Given the description of an element on the screen output the (x, y) to click on. 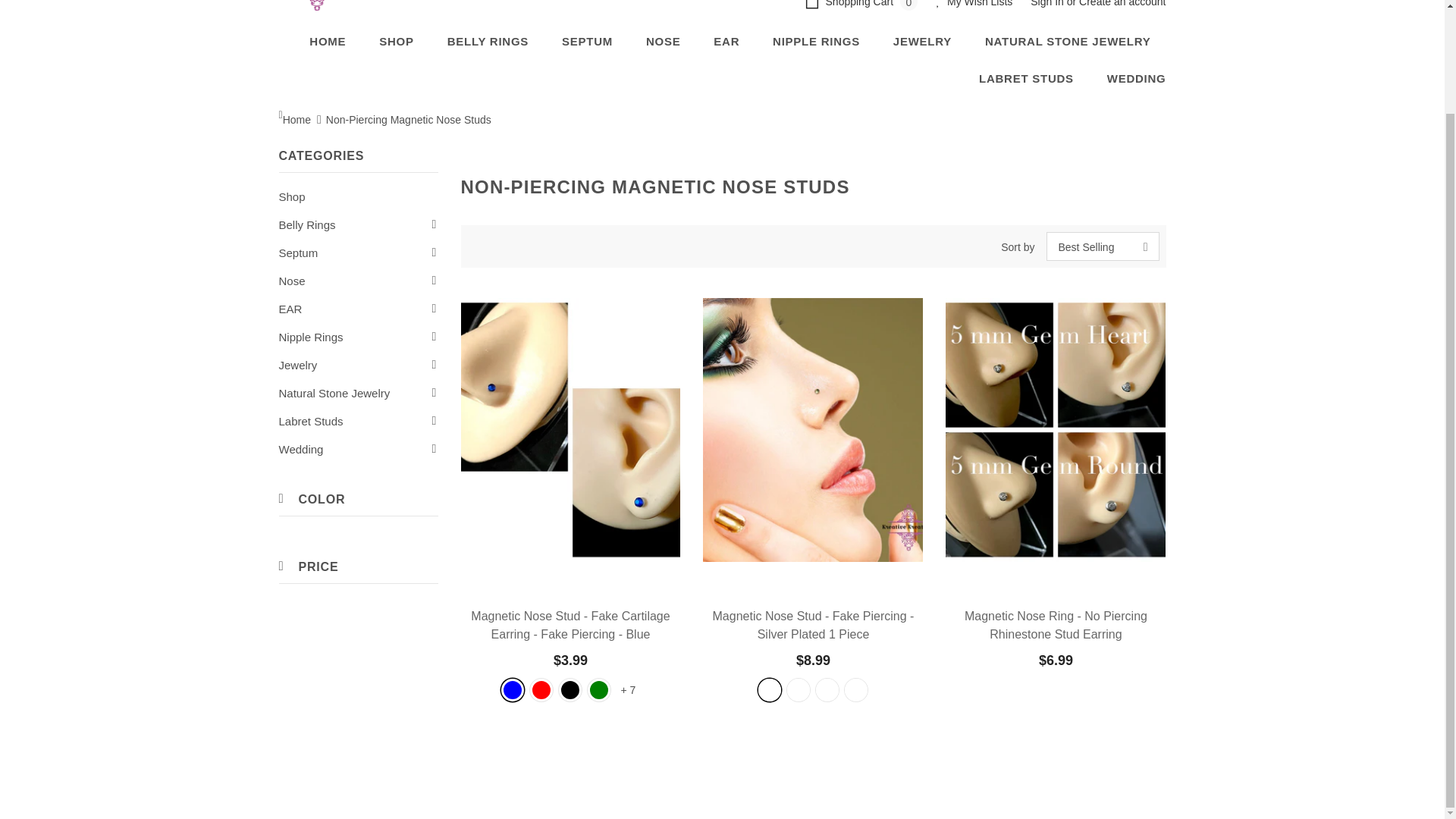
Create an account (1122, 3)
Sign In (1047, 3)
SEPTUM (587, 40)
Shopping Cart 0 (863, 7)
NOSE (663, 40)
My Wish Lists (974, 7)
BELLY RINGS (487, 40)
NATURAL STONE JEWELRY (1068, 40)
SHOP (395, 40)
HOME (327, 40)
